Given the description of an element on the screen output the (x, y) to click on. 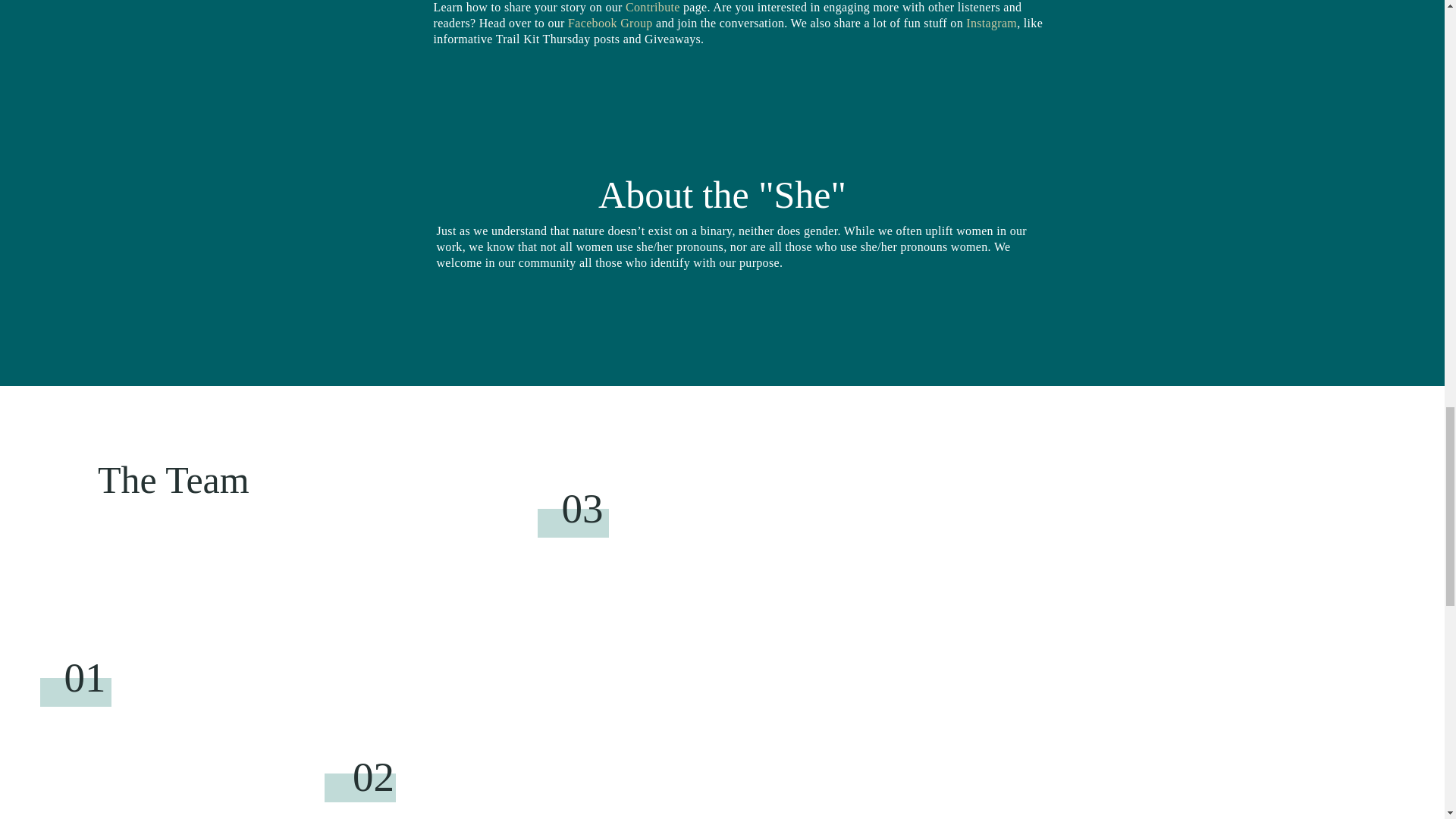
Facebook Group (609, 22)
Contribute (652, 6)
Instagram (991, 22)
